Given the description of an element on the screen output the (x, y) to click on. 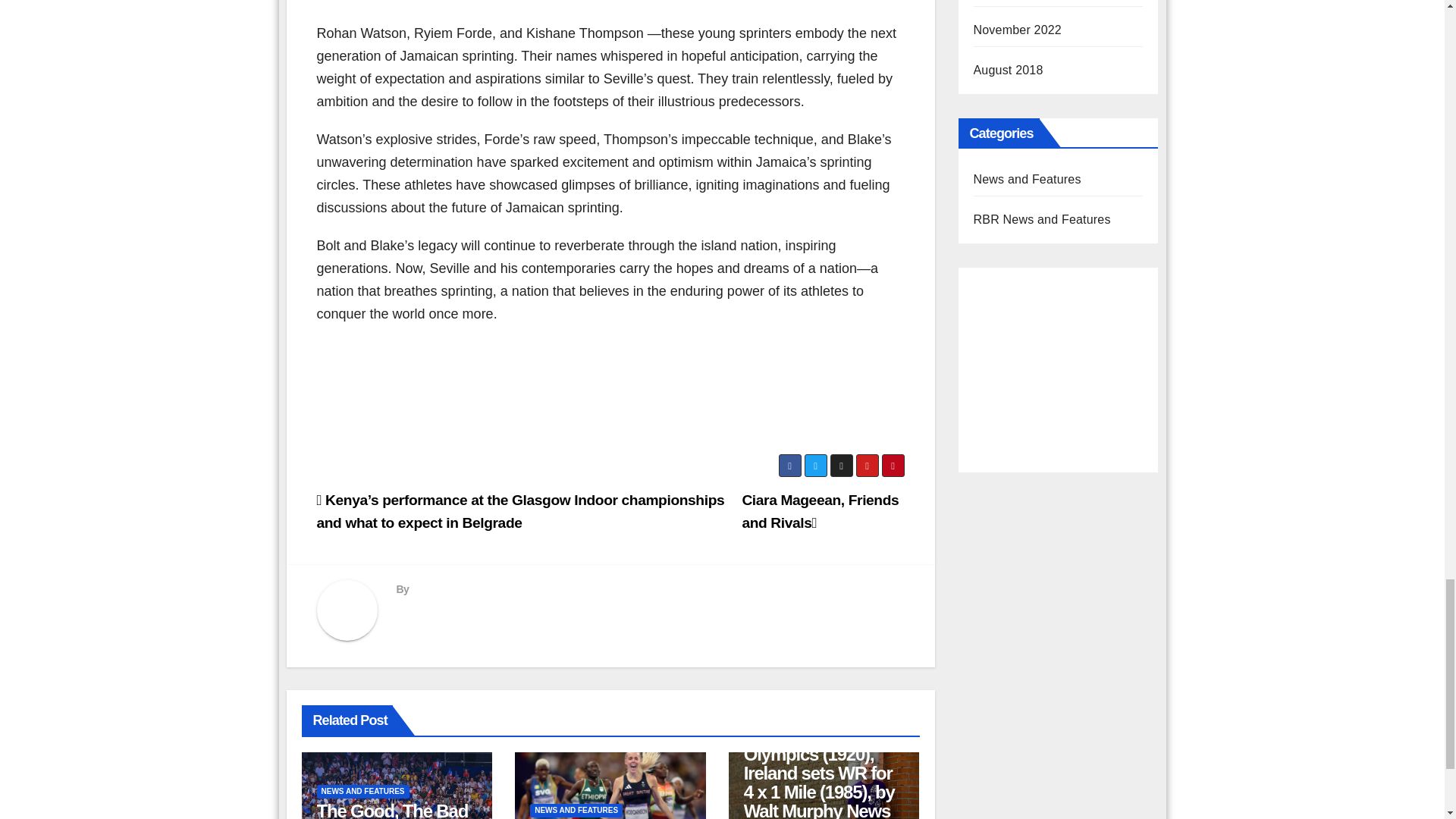
NEWS AND FEATURES (363, 791)
NEWS AND FEATURES (576, 810)
The Good, The Bad The Sad  , and the Rest at Paris (392, 809)
